Given the description of an element on the screen output the (x, y) to click on. 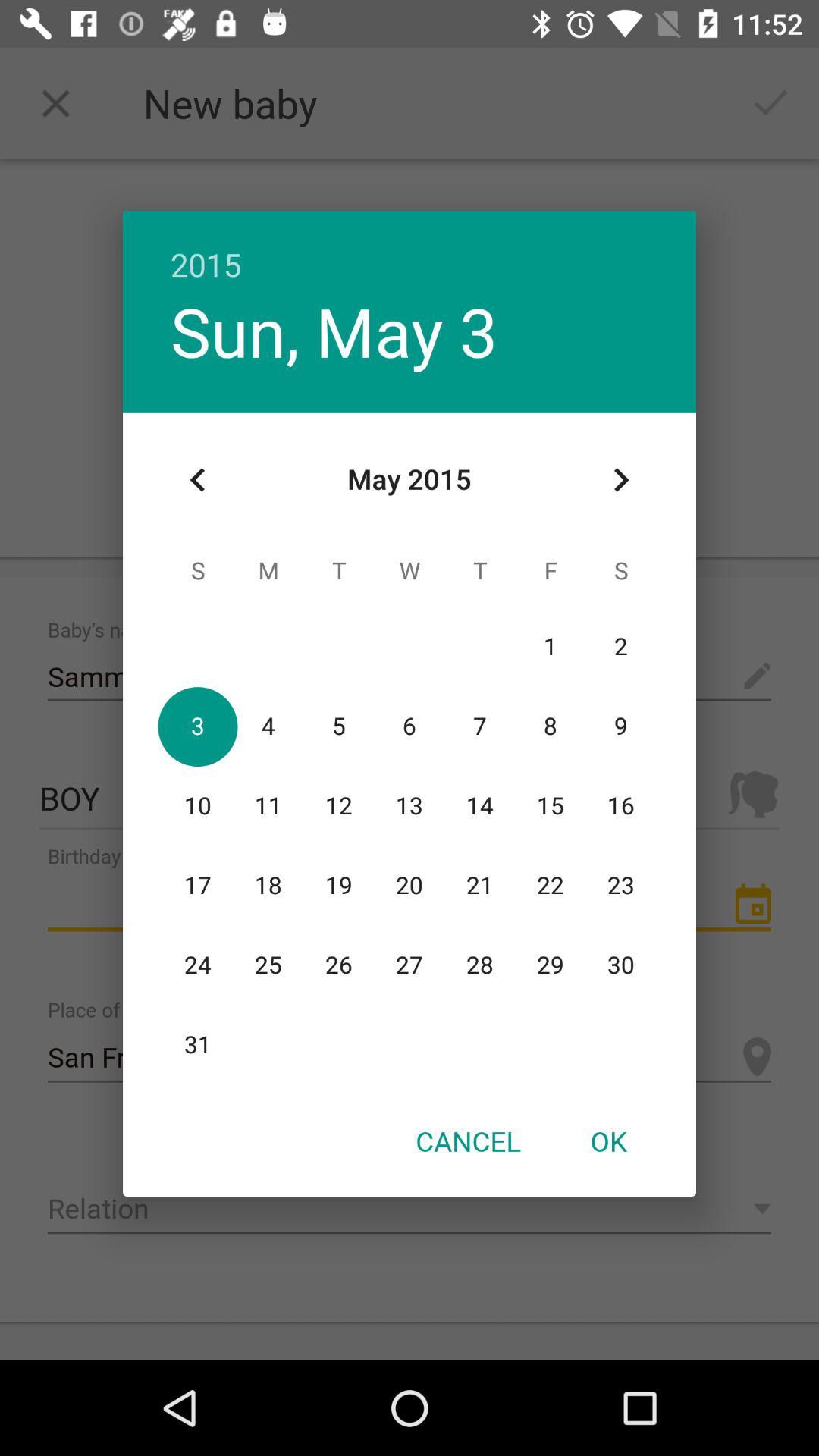
jump to the 2015 icon (409, 248)
